Given the description of an element on the screen output the (x, y) to click on. 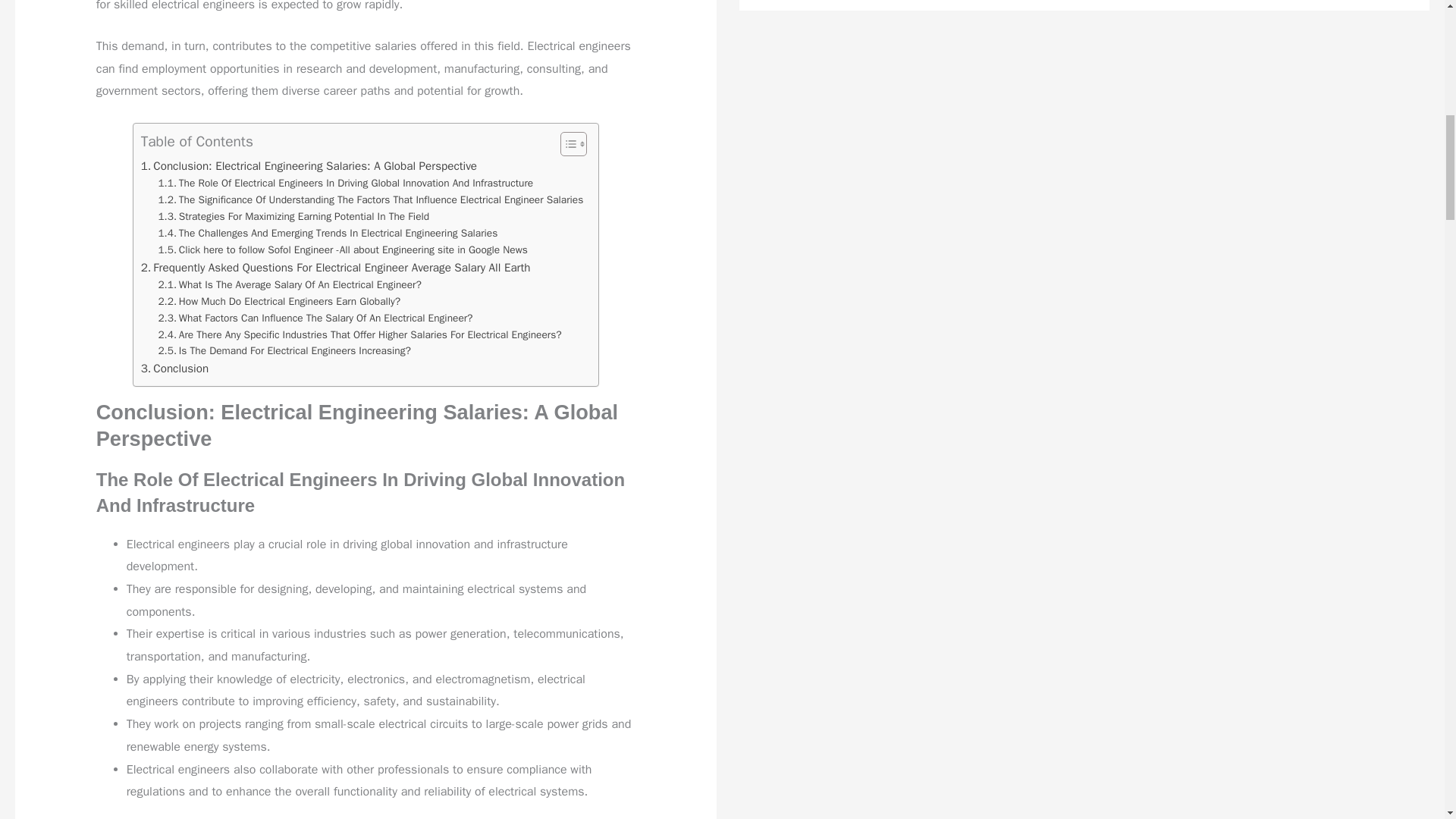
How Much Do Electrical Engineers Earn Globally? (278, 301)
How Much Do Electrical Engineers Earn Globally? (278, 301)
Conclusion (174, 368)
Strategies For Maximizing Earning Potential In The Field (293, 216)
What Is The Average Salary Of An Electrical Engineer? (288, 284)
Strategies For Maximizing Earning Potential In The Field (293, 216)
